Given the description of an element on the screen output the (x, y) to click on. 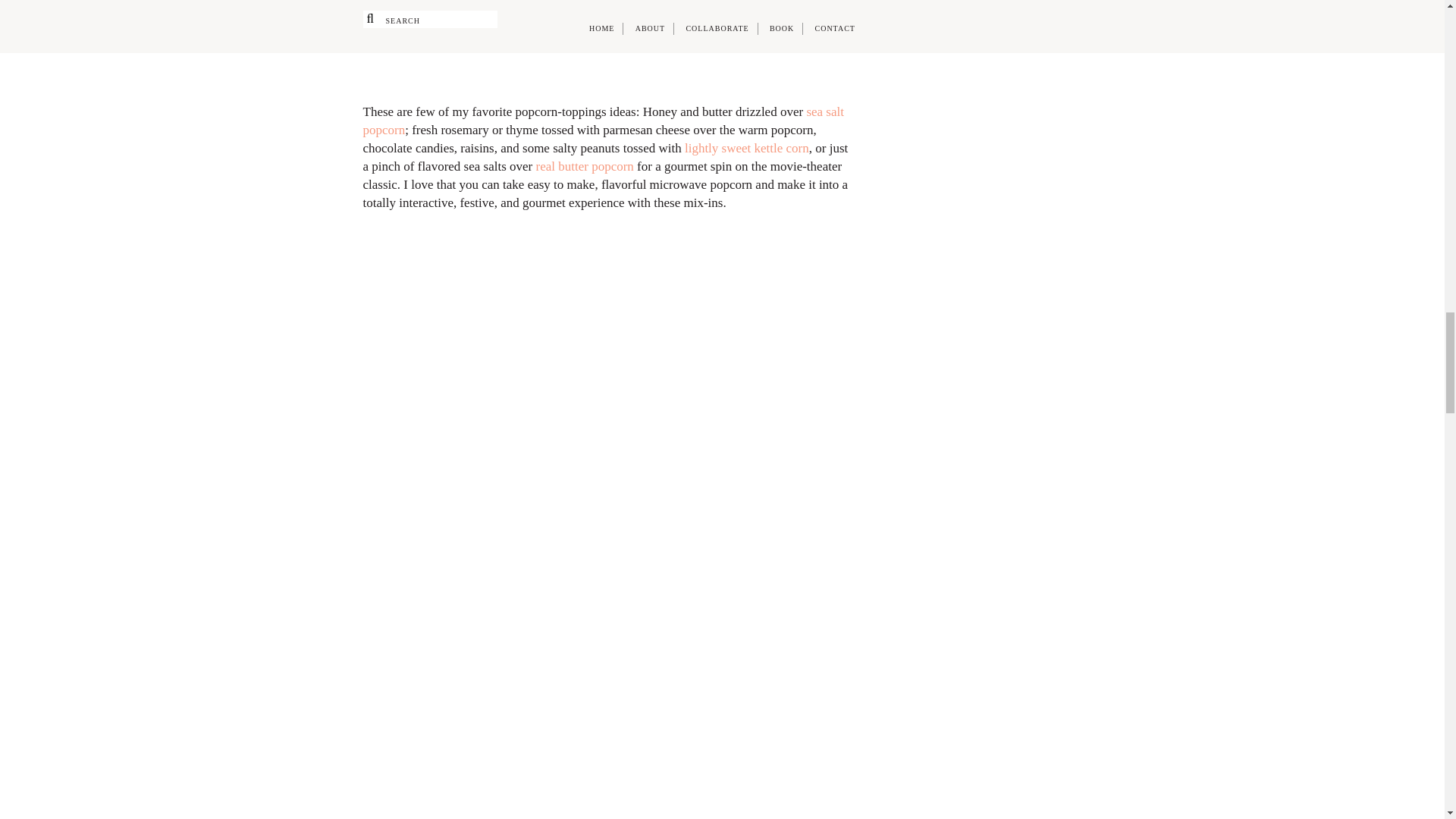
sea salt popcorn (602, 120)
real butter popcorn (584, 165)
lightly sweet kettle corn (746, 147)
